Given the description of an element on the screen output the (x, y) to click on. 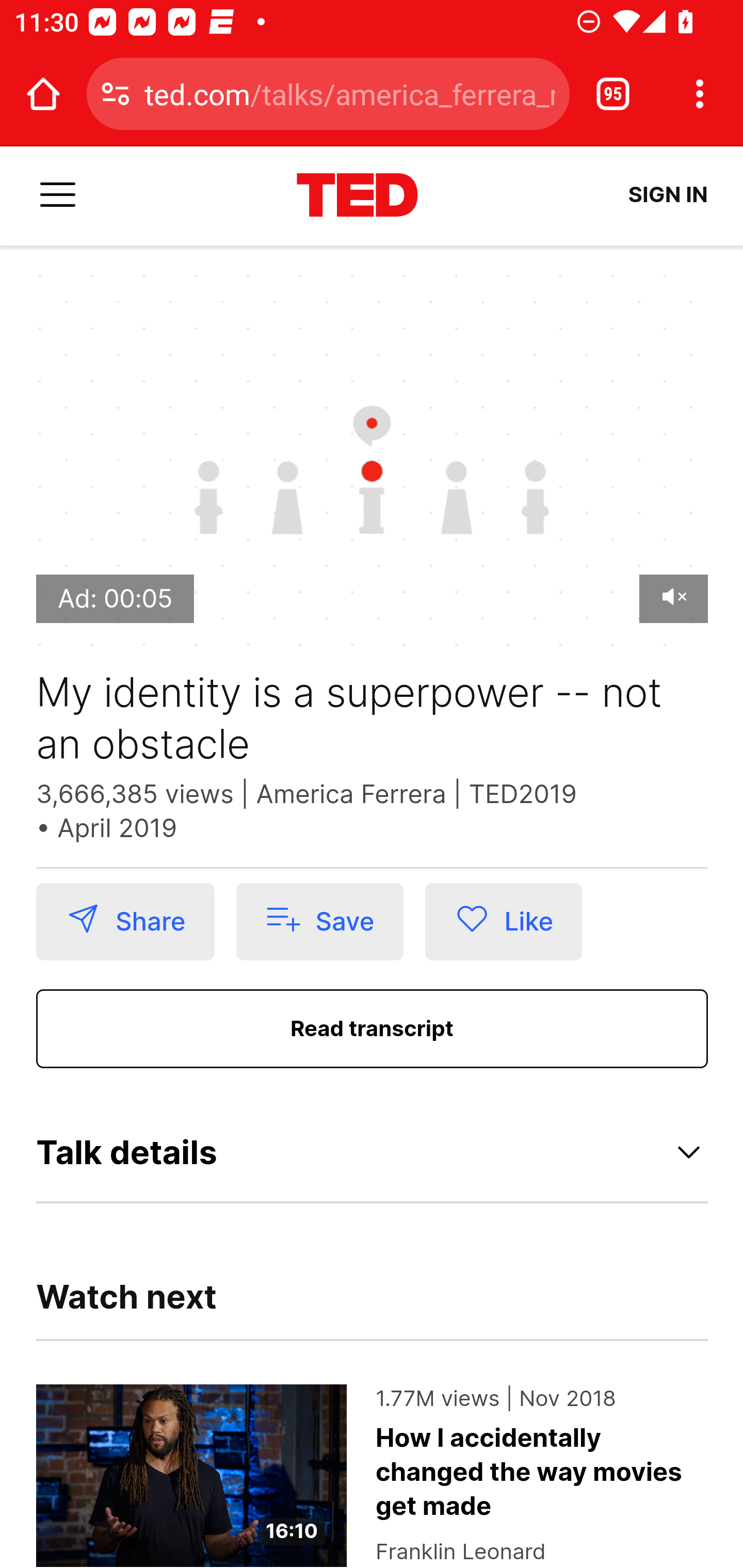
Open the home page (43, 93)
Connection is secure (115, 93)
Switch or close tabs (612, 93)
Customize and control Google Chrome (699, 93)
www.ted (357, 195)
Menu (57, 195)
SIGN IN (667, 194)
Play Video (372, 463)
Share (125, 921)
Save (319, 921)
Like (503, 921)
Read transcript (372, 1029)
Talk details (372, 1152)
Watch next (127, 1307)
